Given the description of an element on the screen output the (x, y) to click on. 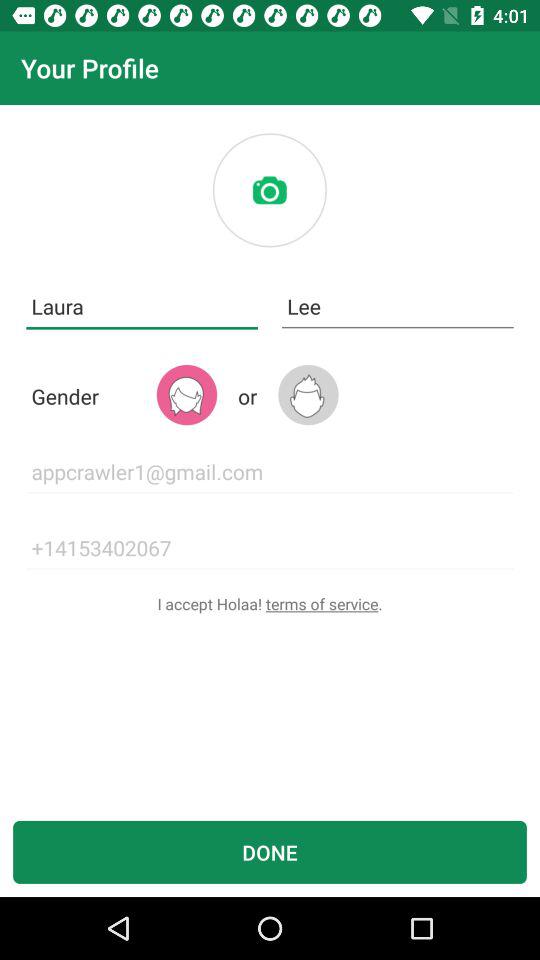
press icon below the or item (270, 471)
